Given the description of an element on the screen output the (x, y) to click on. 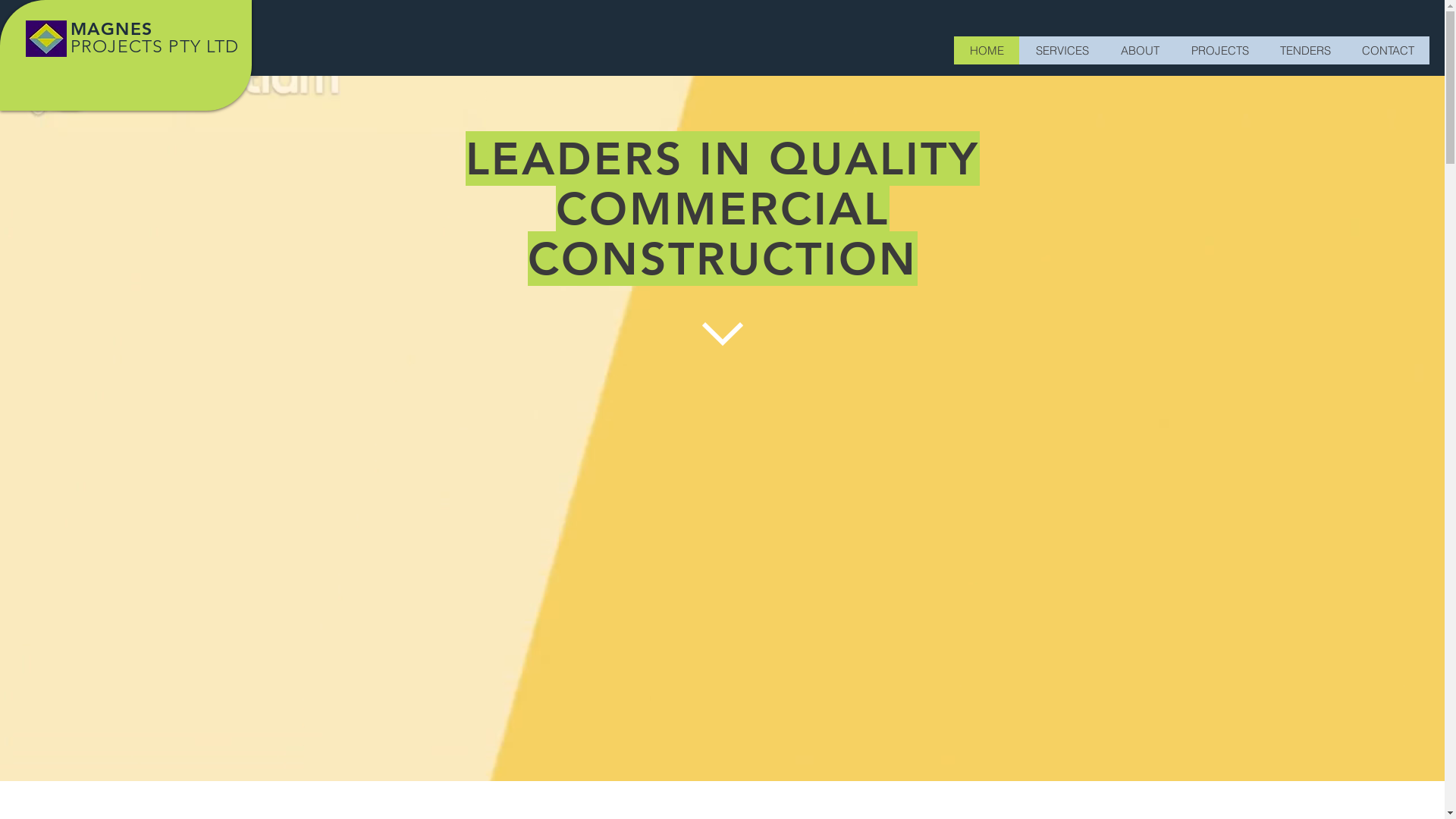
HOME Element type: text (986, 50)
PROJECTS Element type: text (1219, 50)
TENDERS Element type: text (1305, 50)
ABOUT Element type: text (1139, 50)
SERVICES Element type: text (1061, 50)
Magnes Logo.jpg Element type: hover (45, 38)
CONTACT Element type: text (1387, 50)
MAGNES PROJECTS PTY LTD Element type: text (154, 37)
